Given the description of an element on the screen output the (x, y) to click on. 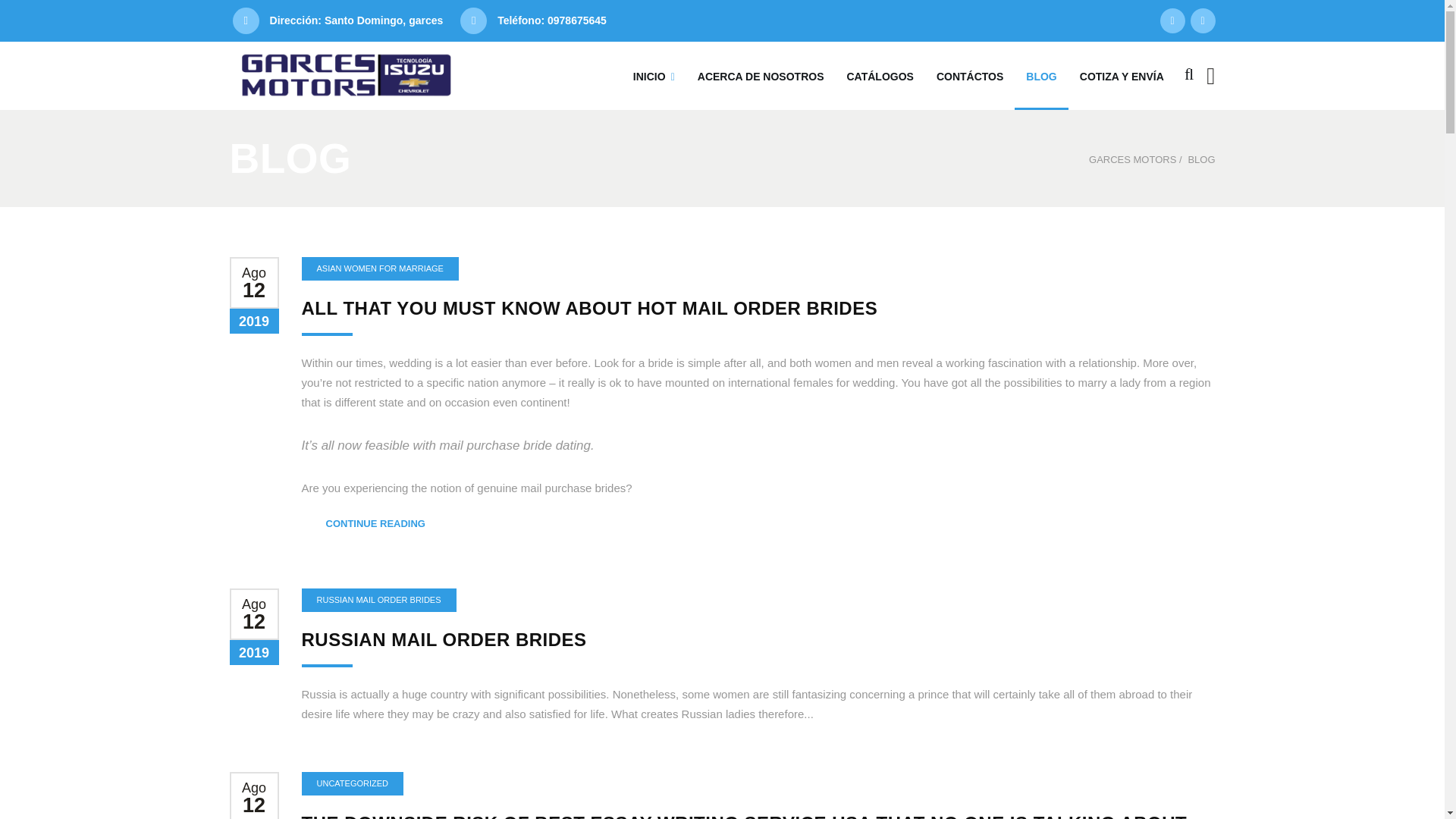
INICIO (653, 75)
Russian Mail Order Brides (443, 639)
BLOG (1201, 159)
Go (1159, 132)
All  that You Must Know About Hot Mail Order Brides (589, 308)
ASIAN WOMEN FOR MARRIAGE (379, 268)
ACERCA DE NOSOTROS (760, 75)
GARCES MOTORS (1132, 159)
